Given the description of an element on the screen output the (x, y) to click on. 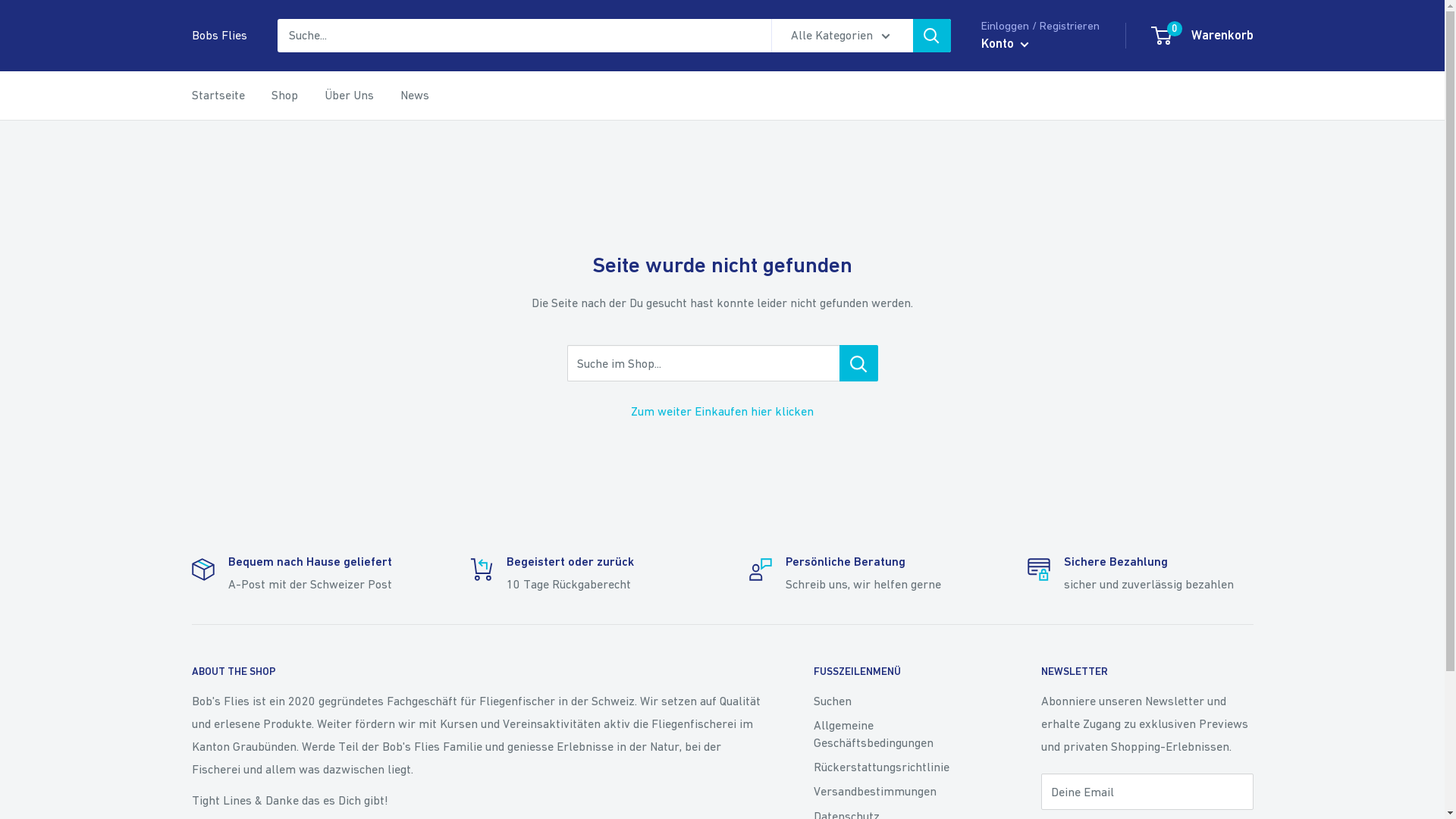
Suchen Element type: text (899, 700)
Startseite Element type: text (217, 95)
Versandbestimmungen Element type: text (899, 790)
Shop Element type: text (284, 95)
Konto Element type: text (1005, 43)
0
Warenkorb Element type: text (1202, 35)
Bobs Flies Element type: text (218, 35)
Zum weiter Einkaufen hier klicken Element type: text (721, 410)
ABOUT THE SHOP Element type: text (475, 671)
News Element type: text (414, 95)
